Given the description of an element on the screen output the (x, y) to click on. 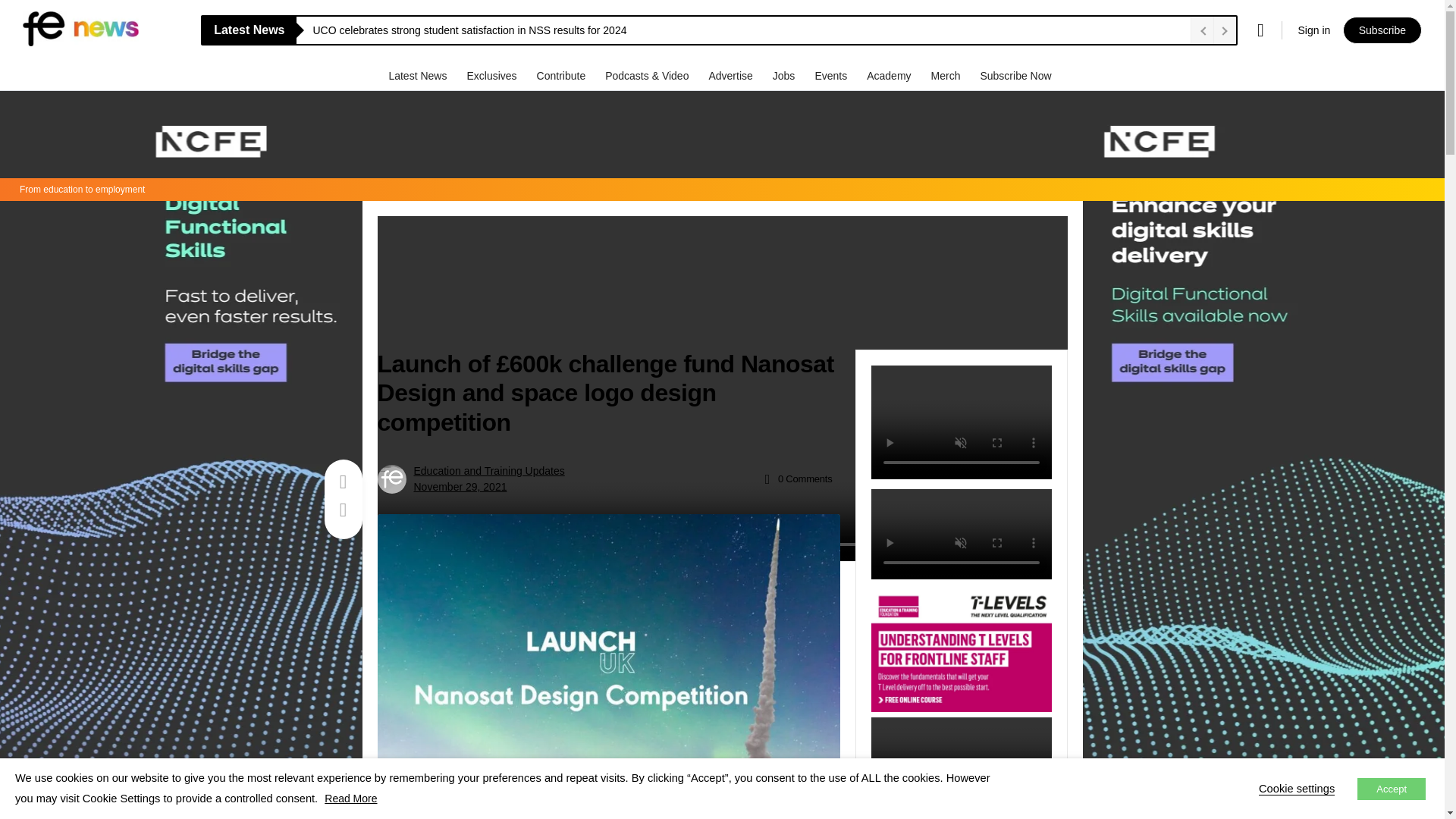
Exclusives (493, 75)
Sign in (1313, 30)
Subscribe (1382, 30)
Latest News (419, 75)
